Given the description of an element on the screen output the (x, y) to click on. 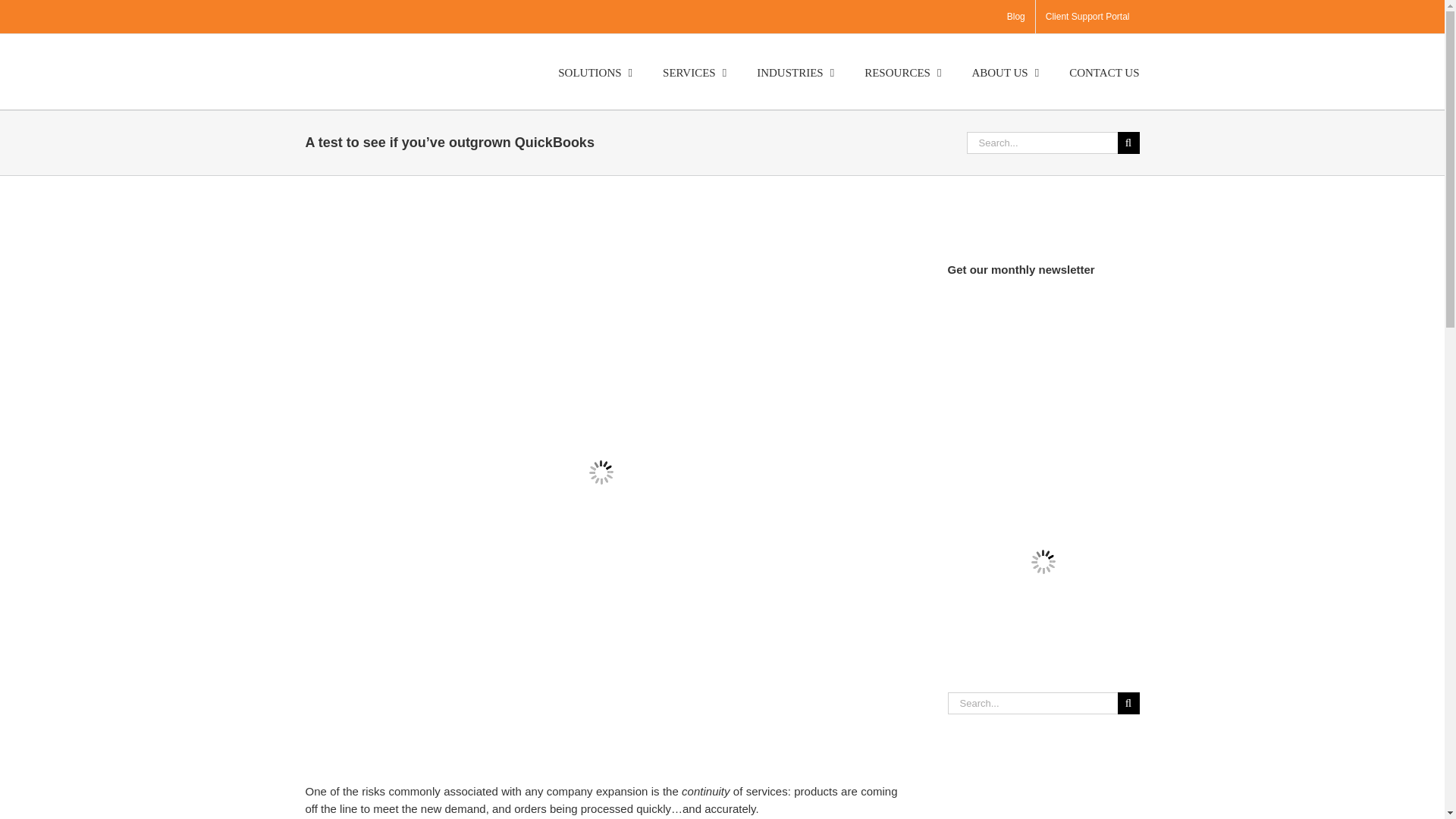
SOLUTIONS (594, 71)
Blog (1016, 16)
Client Support Portal (1087, 16)
Client Support Portal (1087, 16)
